Given the description of an element on the screen output the (x, y) to click on. 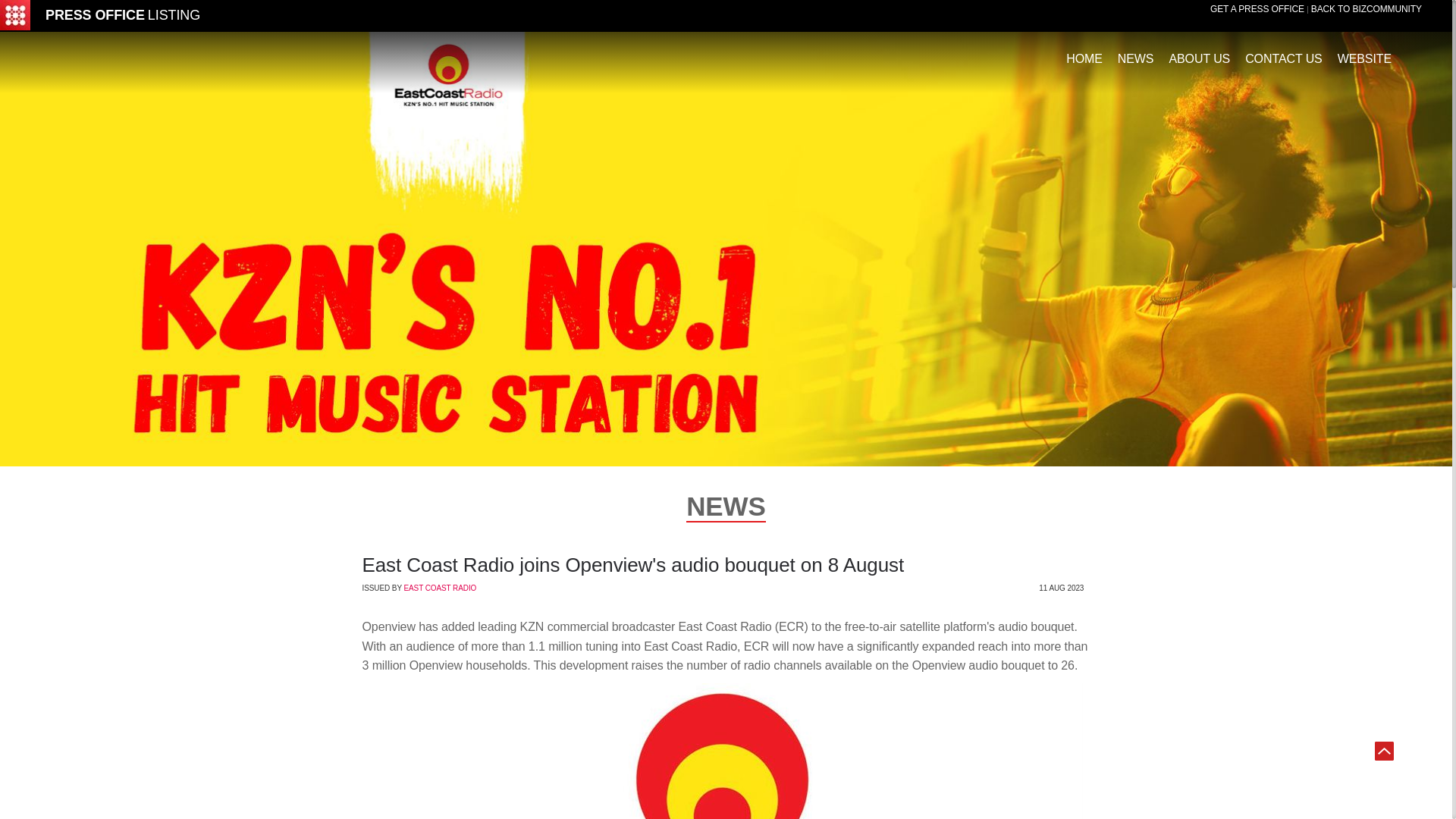
EAST COAST RADIO (439, 587)
ABOUT US (1199, 52)
BACK TO BIZCOMMUNITY (1366, 9)
WEBSITE (1364, 52)
CONTACT US (1283, 52)
GET A PRESS OFFICE (1256, 9)
